Given the description of an element on the screen output the (x, y) to click on. 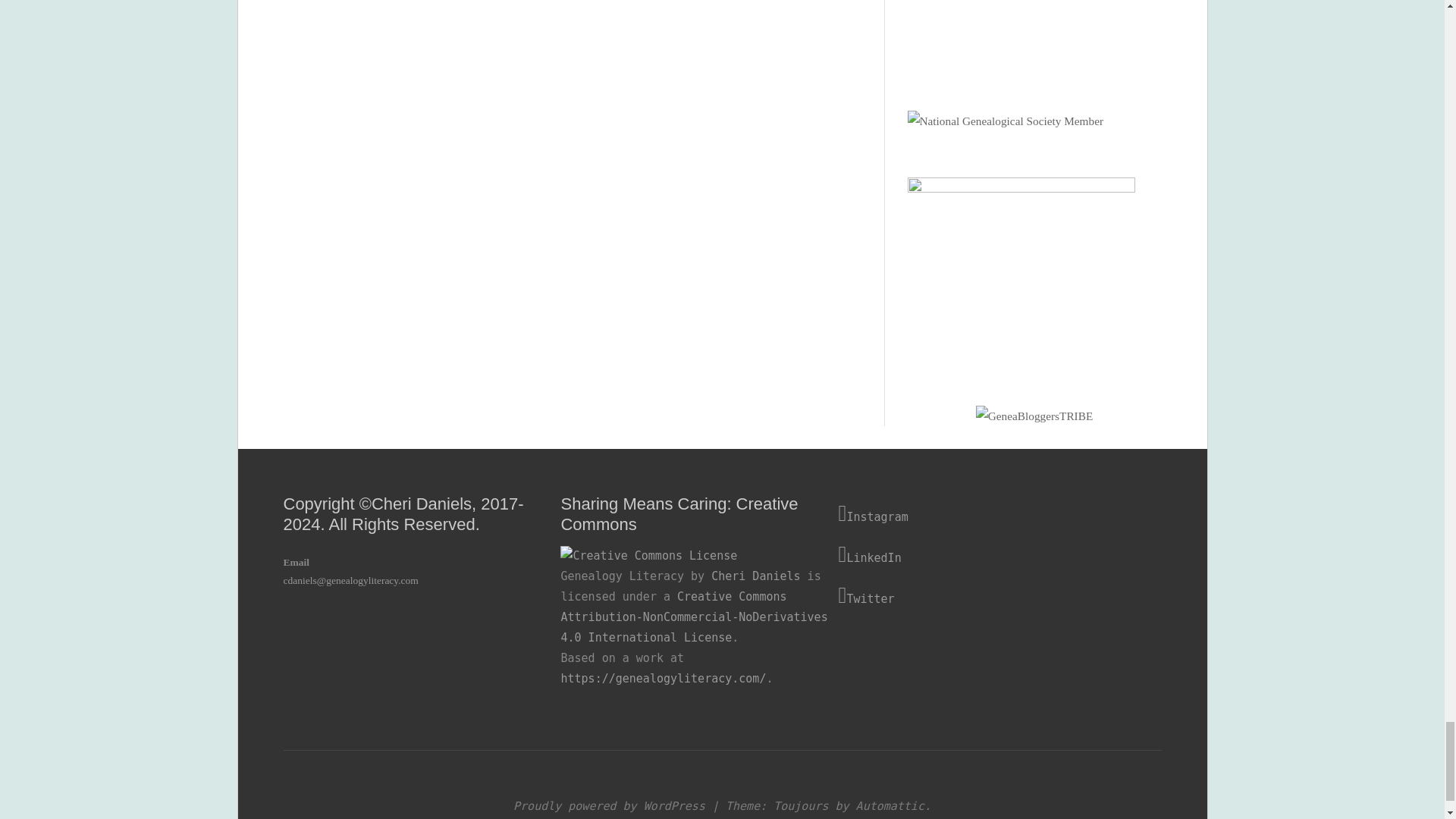
Visit Genealogy Literacy on LinkedIn (976, 555)
GeneaBloggersTRIBE (1034, 415)
National Genealogical Society Member (1005, 120)
Visit Genealogy Literacy on Instagram (976, 514)
Visit Genealogy Literacy on Twitter (976, 596)
